Given the description of an element on the screen output the (x, y) to click on. 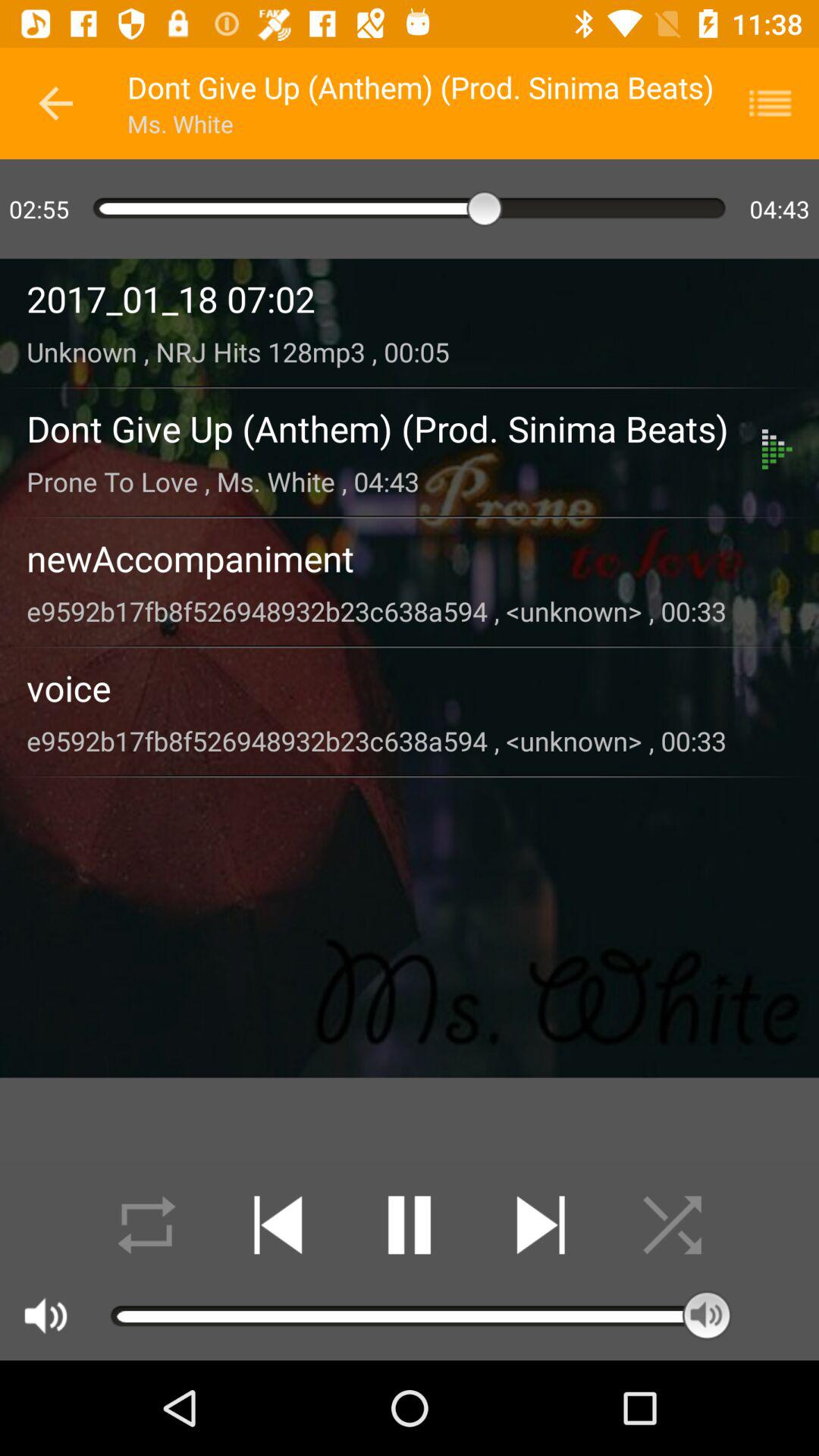
tap the icon below dont give up item (394, 481)
